Given the description of an element on the screen output the (x, y) to click on. 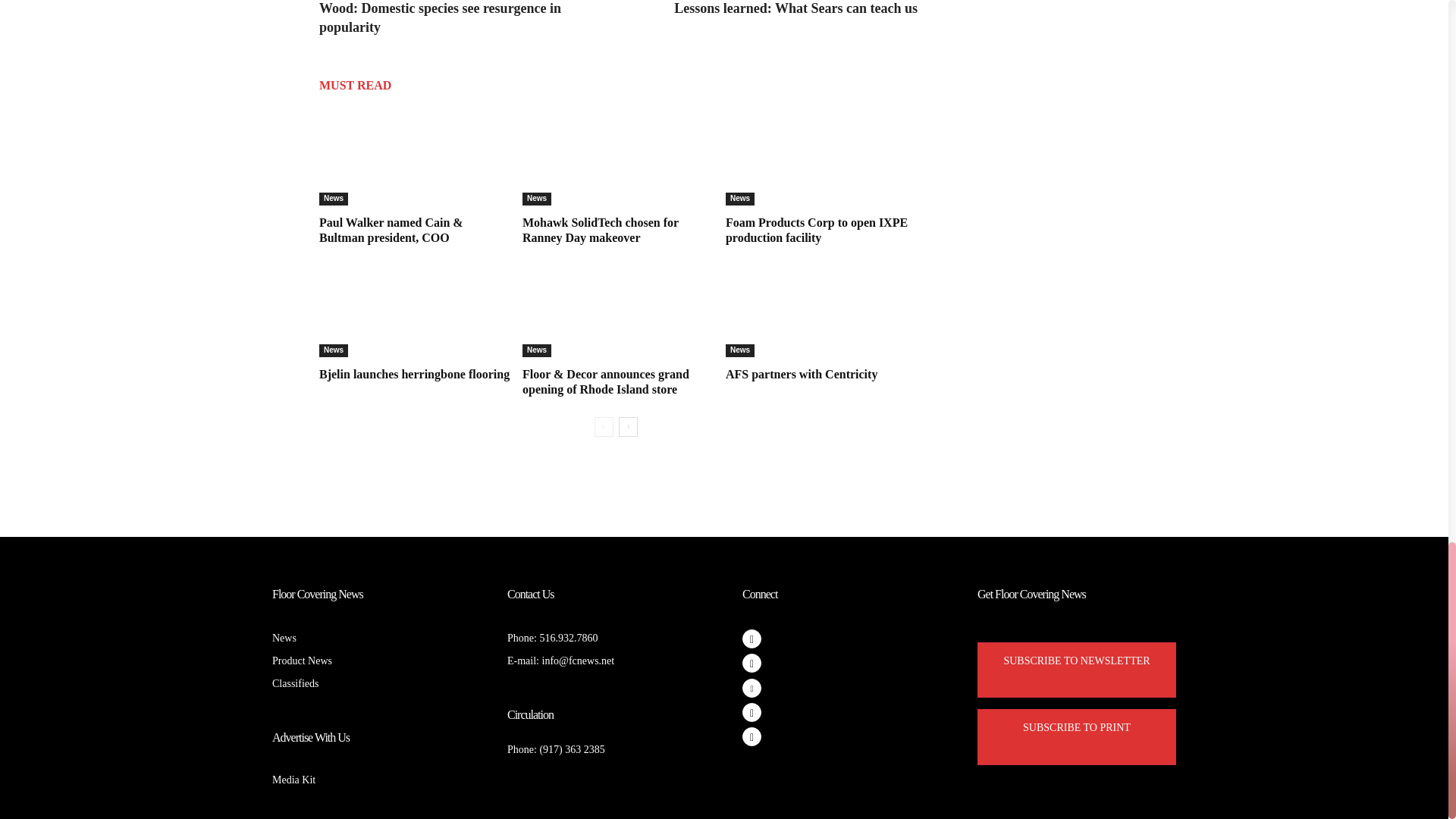
AFS partners with Centricity (801, 373)
Mohawk SolidTech chosen for Ranney Day makeover (600, 230)
Foam Products Corp to open IXPE production facility (821, 156)
Bjelin launches herringbone flooring (414, 309)
Mohawk SolidTech chosen for Ranney Day makeover (618, 156)
AFS partners with Centricity (821, 309)
Foam Products Corp to open IXPE production facility (816, 230)
Bjelin launches herringbone flooring (413, 373)
